Given the description of an element on the screen output the (x, y) to click on. 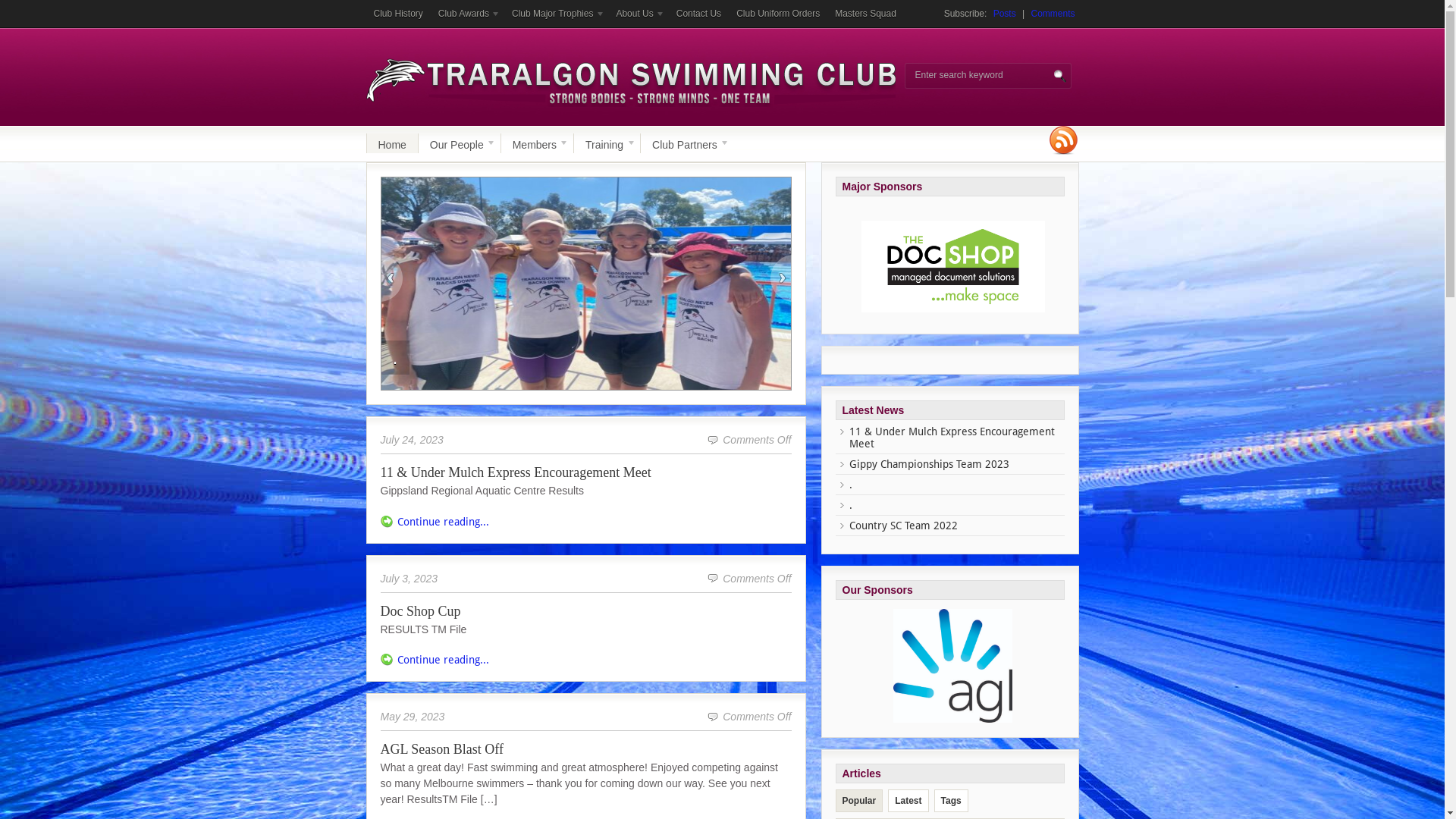
. Element type: hover (585, 283)
Doc Shop Element type: hover (952, 265)
Masters Squad Element type: text (865, 13)
Gippy Championships Team 2023 Element type: text (929, 464)
Enter search keyword Element type: text (982, 74)
11 & Under Mulch Express Encouragement Meet Element type: text (515, 473)
. Element type: text (850, 504)
. Element type: text (850, 484)
Continue reading... Element type: text (443, 521)
11 & Under Mulch Express Encouragement Meet Element type: text (951, 437)
Posts Element type: text (1004, 13)
Energy in action Element type: hover (953, 665)
AGL Season Blast Off Element type: text (441, 750)
Home Element type: text (392, 143)
Prev Element type: text (390, 277)
Club History Element type: text (397, 13)
Continue reading... Element type: text (443, 659)
Comments Element type: text (1052, 13)
Tags Element type: text (951, 800)
Popular Element type: text (858, 800)
Latest Element type: text (907, 800)
. Element type: hover (585, 385)
Contact Us Element type: text (698, 13)
Next Element type: text (780, 277)
Club Uniform Orders Element type: text (777, 13)
Doc Shop Cup Element type: text (420, 612)
Country SC Team 2022 Element type: text (903, 525)
. Element type: text (394, 357)
. Element type: hover (204, 6)
